Given the description of an element on the screen output the (x, y) to click on. 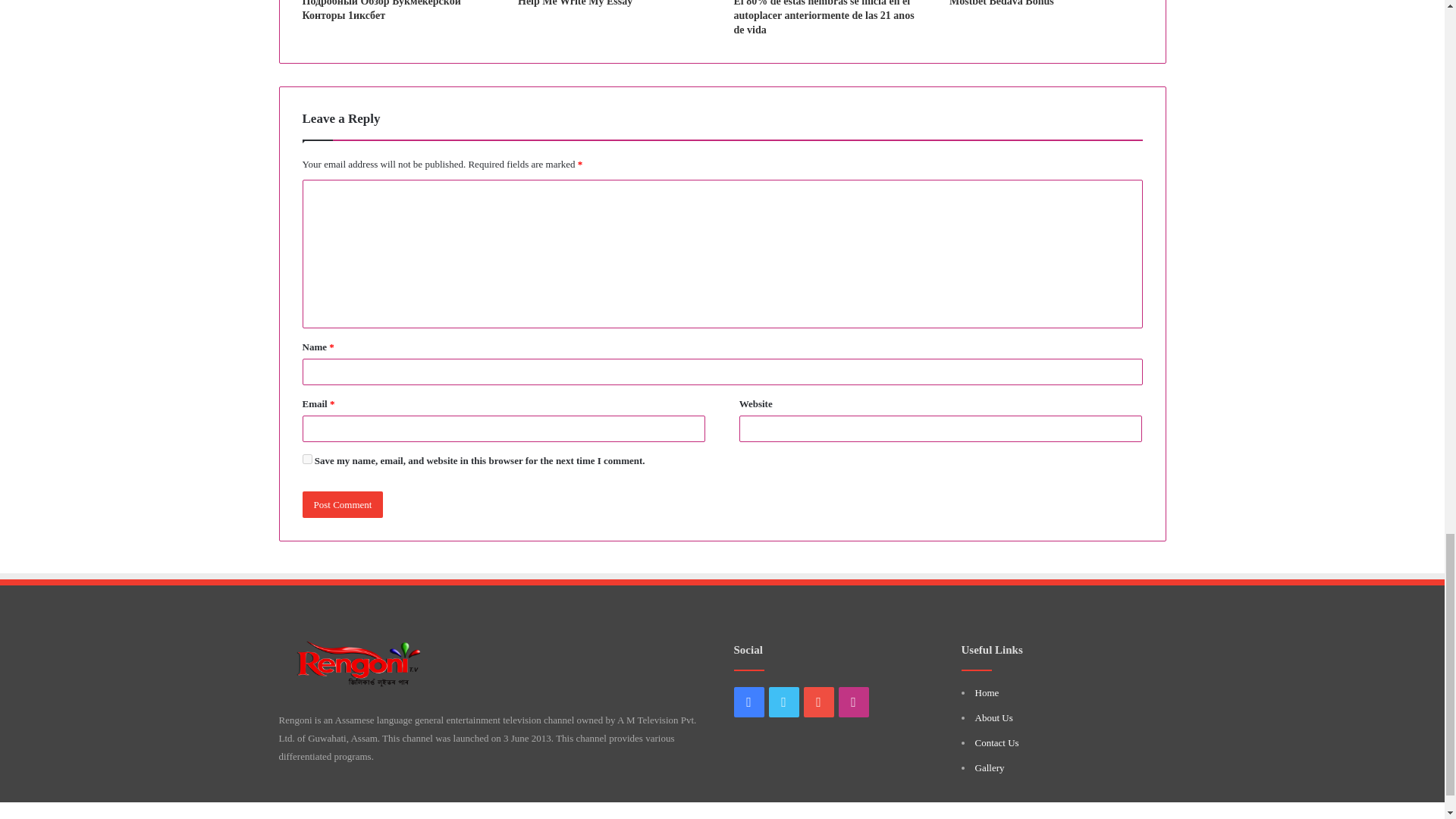
Post Comment (341, 504)
yes (306, 459)
